Given the description of an element on the screen output the (x, y) to click on. 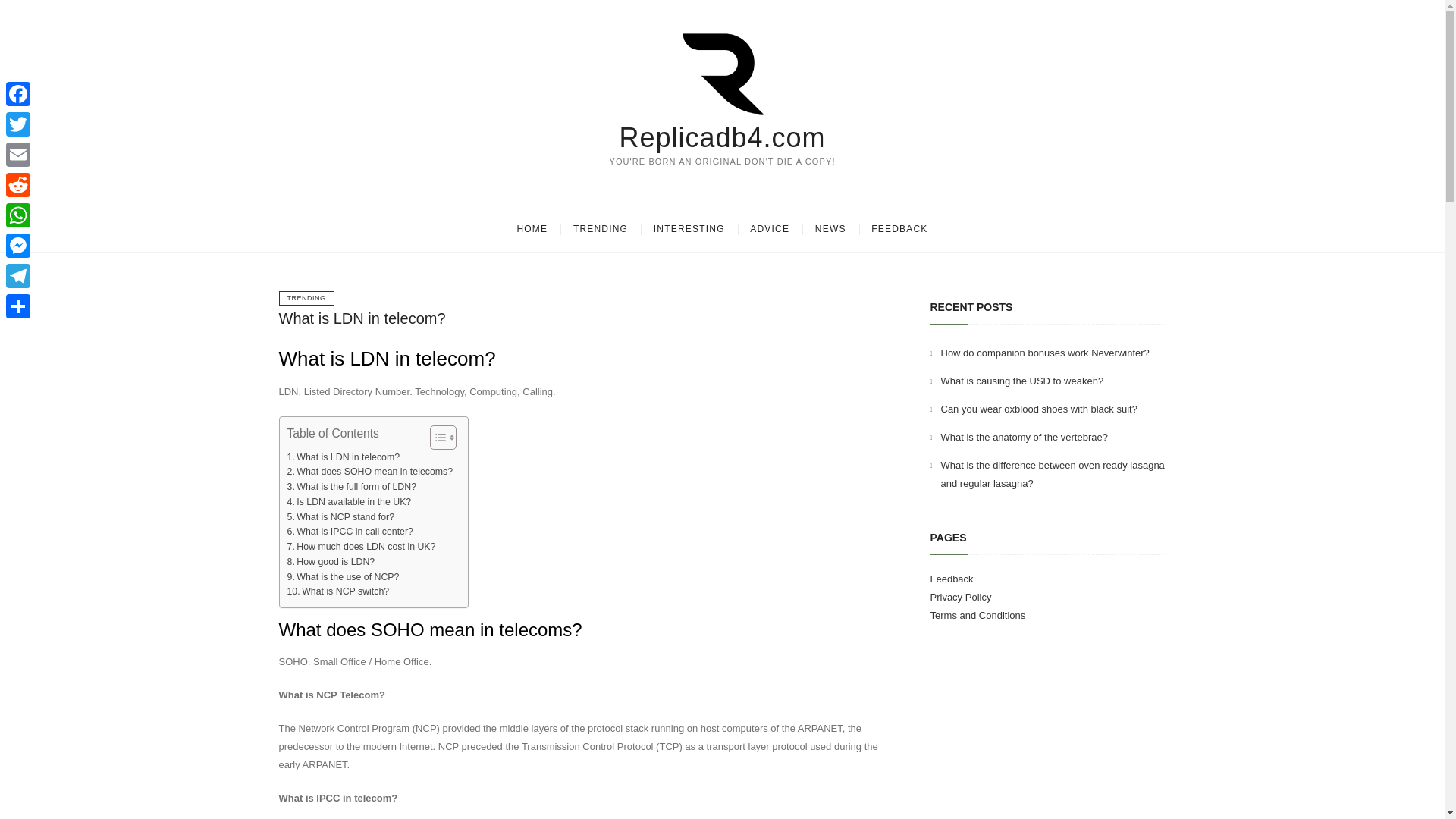
Is LDN available in the UK? (348, 502)
HOME (532, 228)
How much does LDN cost in UK? (360, 547)
TRENDING (306, 298)
Is LDN available in the UK? (348, 502)
What is LDN in telecom? (342, 458)
Can you wear oxblood shoes with black suit? (1038, 408)
What is NCP stand for? (340, 517)
What is the use of NCP? (342, 577)
ADVICE (769, 228)
